Given the description of an element on the screen output the (x, y) to click on. 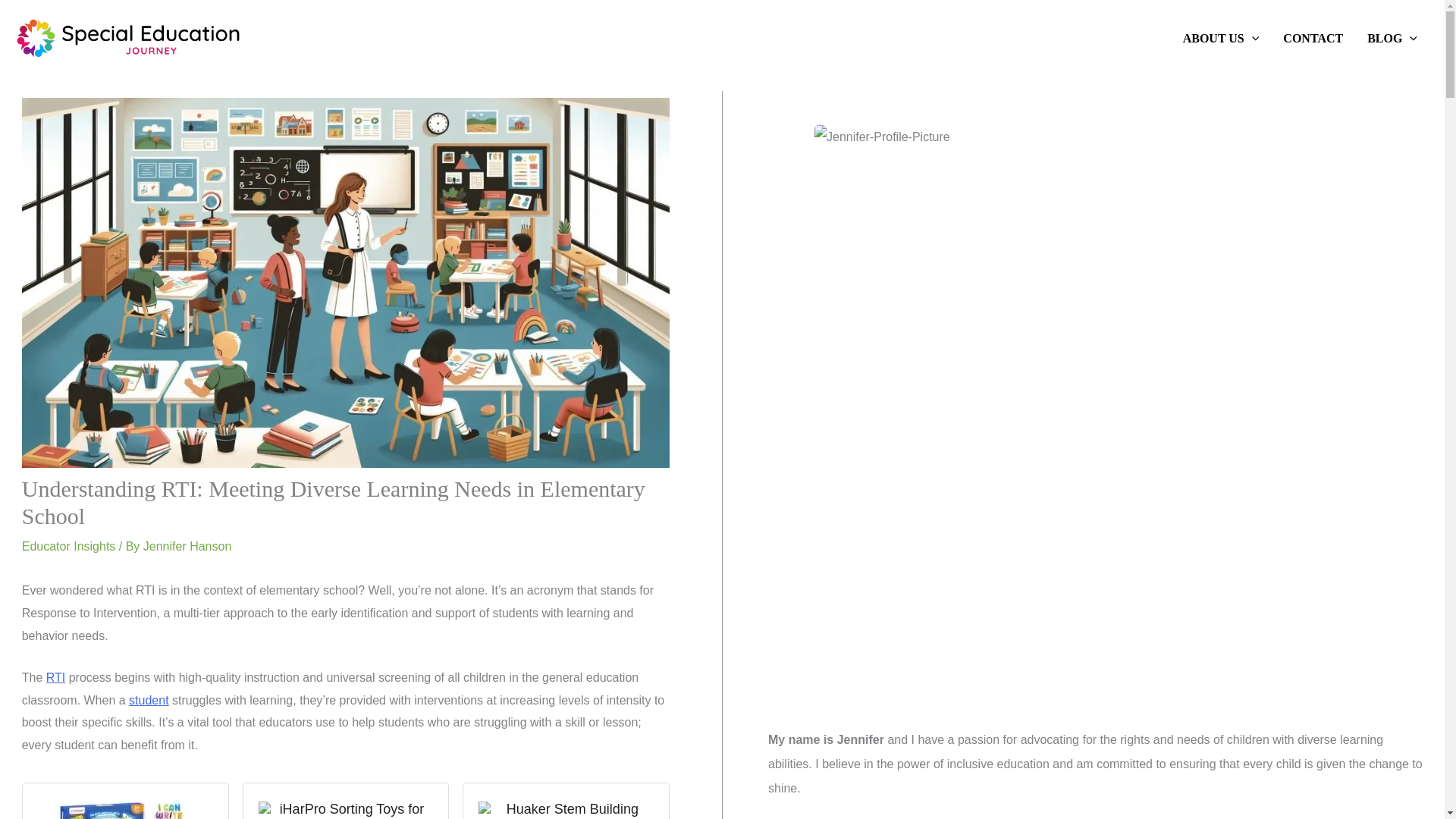
Jennifer Hanson (186, 545)
BLOG (1392, 38)
CONTACT (1313, 38)
View all posts by Jennifer Hanson (186, 545)
RTI (55, 676)
504 Plan Arizona (148, 699)
ABOUT US (1220, 38)
Educator Insights (68, 545)
